Given the description of an element on the screen output the (x, y) to click on. 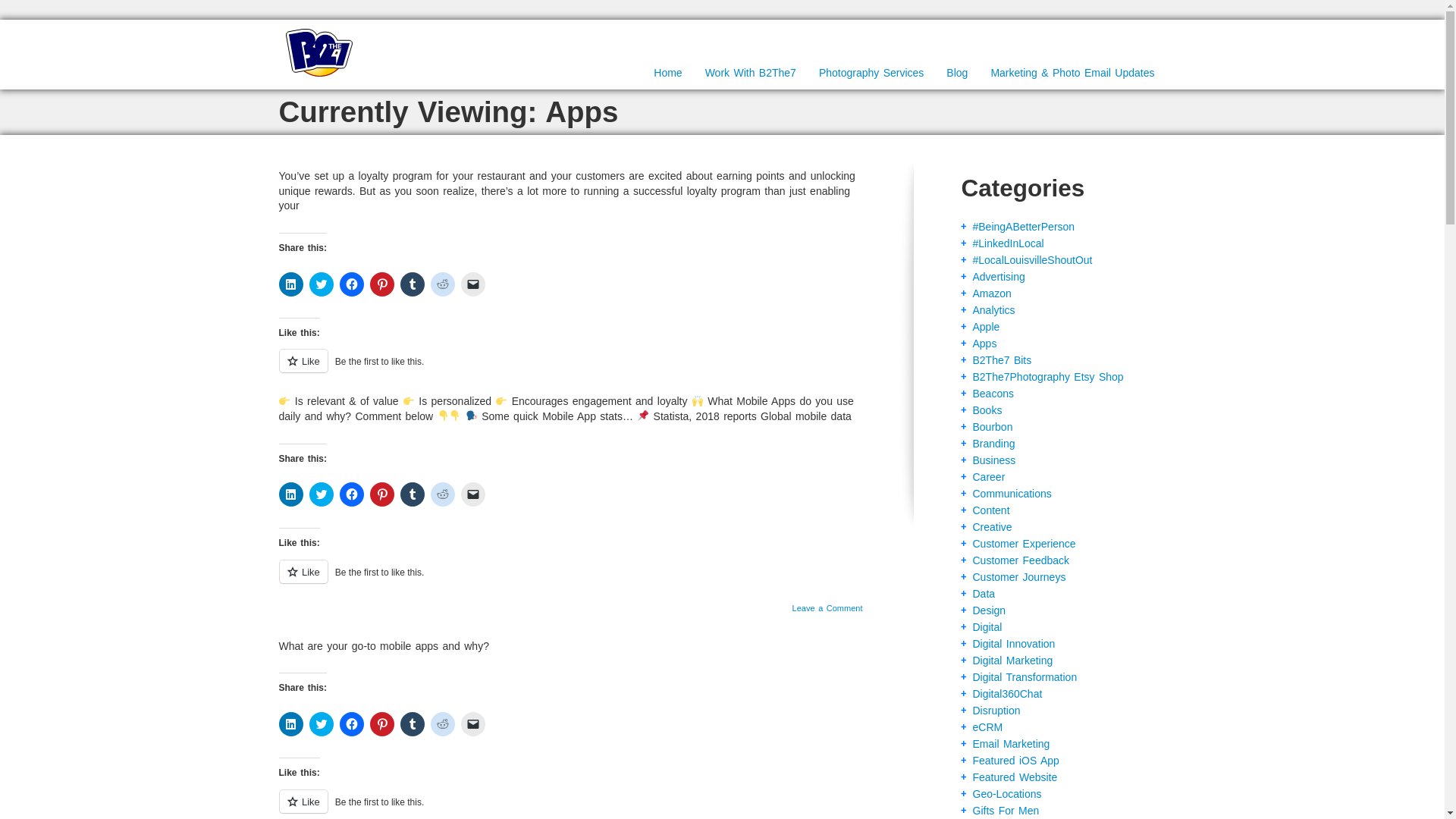
Click to share on Twitter (320, 494)
Blog (956, 73)
Like or Reblog (571, 580)
Click to share on Tumblr (412, 494)
Home (667, 73)
Click to email a link to a friend (472, 283)
Click to share on Tumblr (412, 283)
Work With B2The7 (751, 73)
Click to share on Reddit (442, 494)
Click to share on Facebook (351, 283)
Click to email a link to a friend (472, 494)
Click to share on Facebook (351, 494)
Click to share on Reddit (442, 283)
Like or Reblog (571, 369)
Photography Services (871, 73)
